Given the description of an element on the screen output the (x, y) to click on. 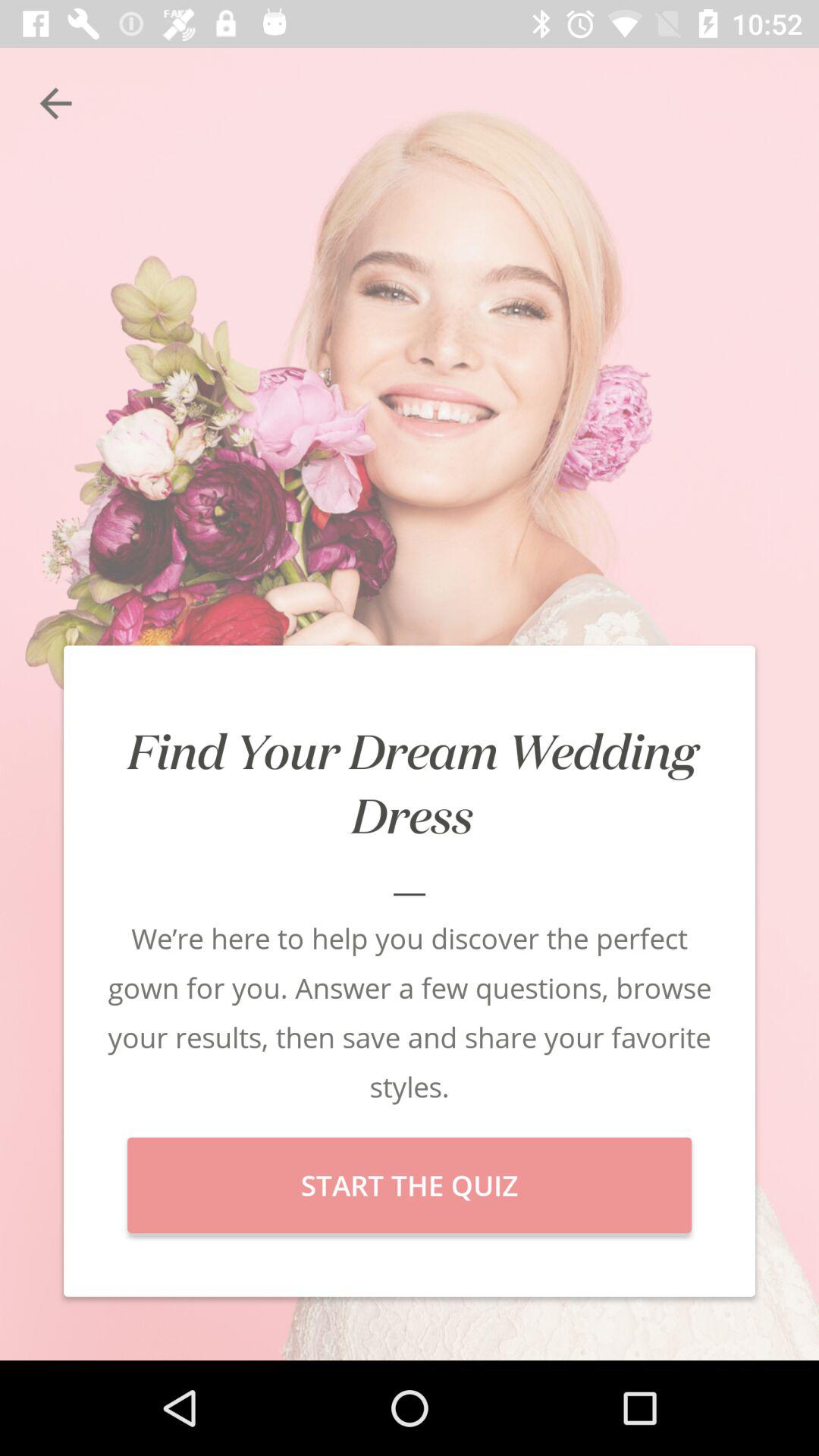
select start the quiz item (409, 1185)
